Given the description of an element on the screen output the (x, y) to click on. 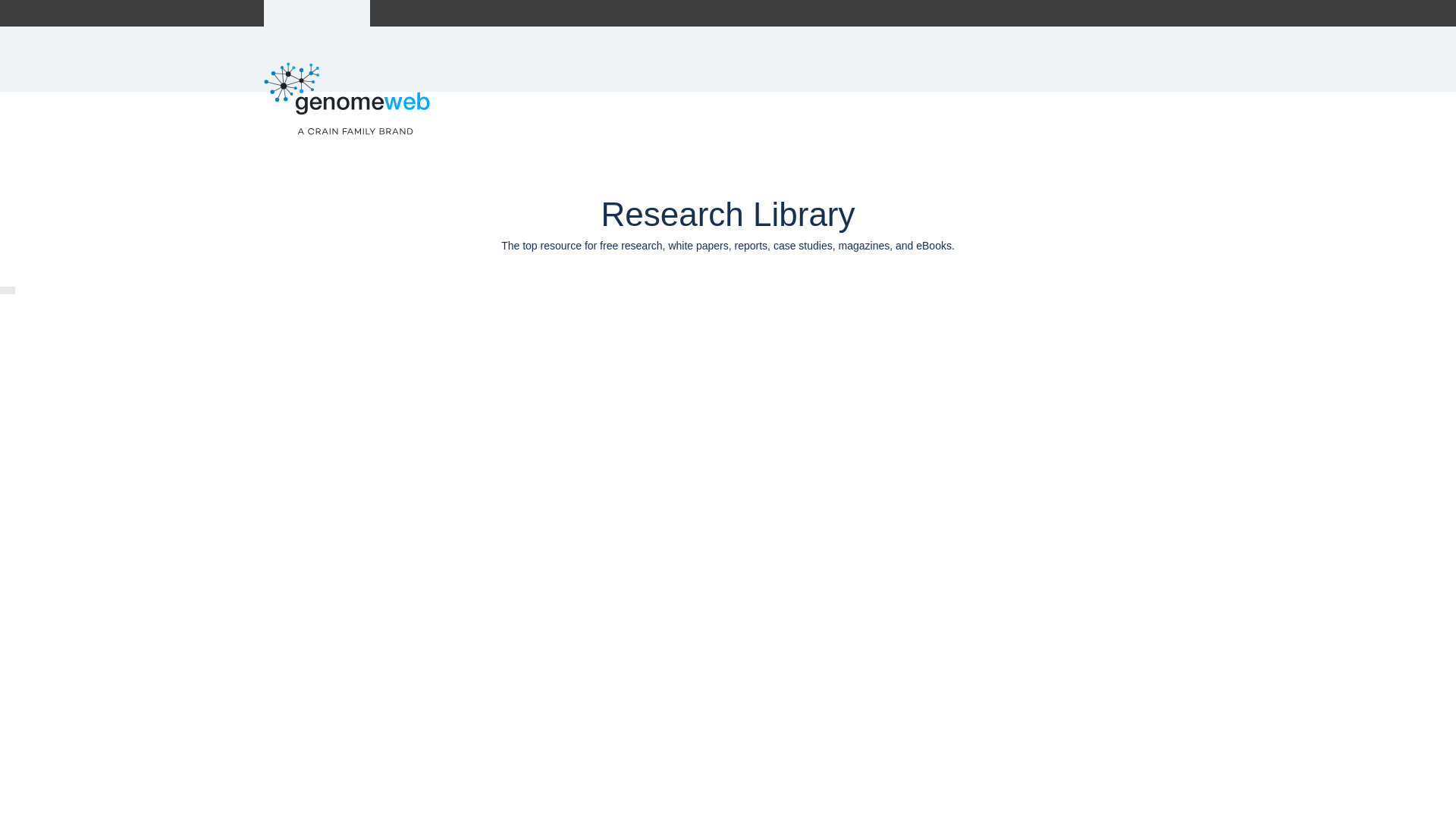
Precision Oncology News (505, 13)
360Dx (410, 13)
GenomeWeb (316, 13)
